Given the description of an element on the screen output the (x, y) to click on. 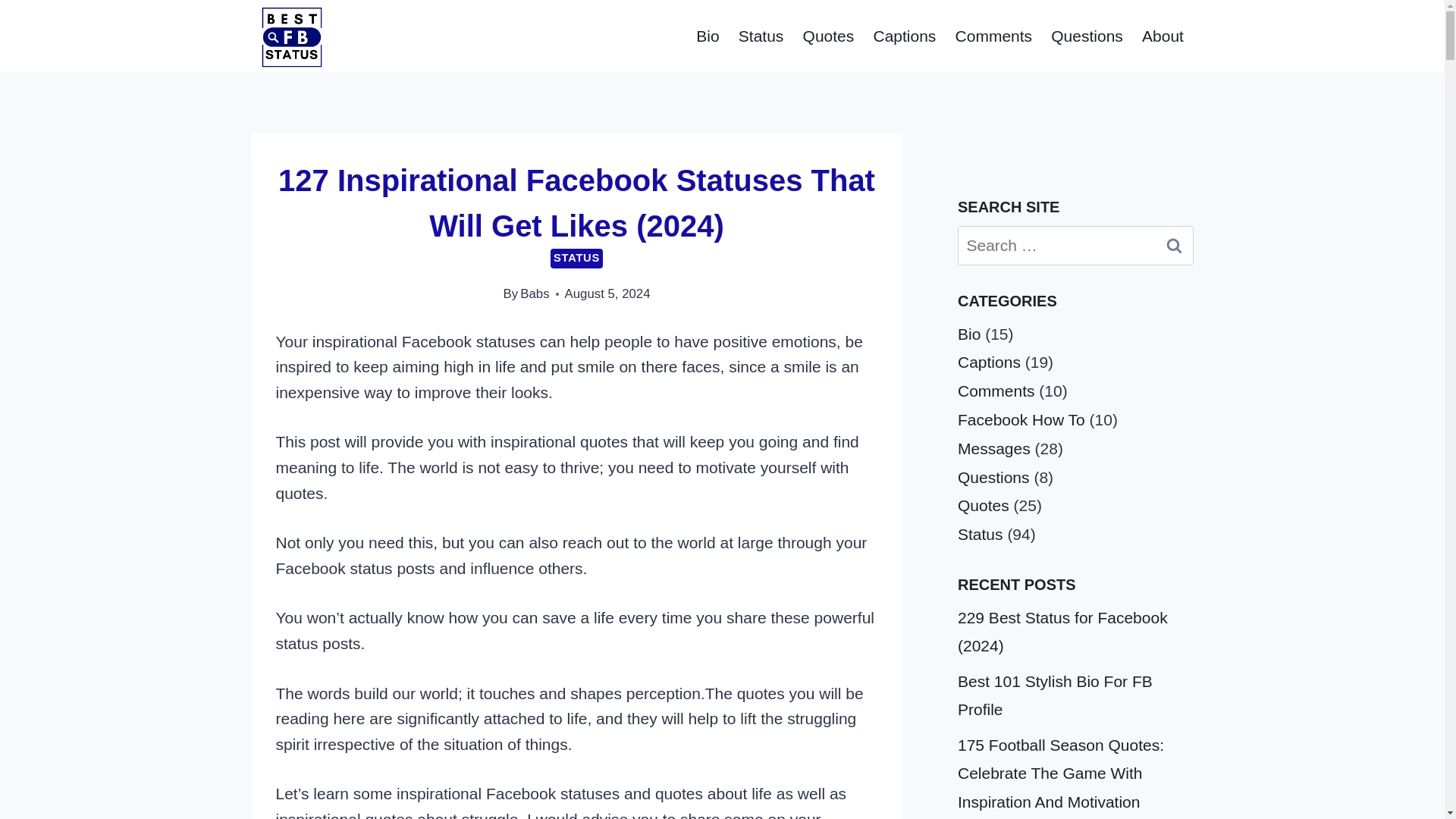
Comments (993, 36)
Captions (903, 36)
Questions (1087, 36)
Babs (533, 293)
Bio (708, 36)
Quotes (828, 36)
STATUS (576, 258)
Status (761, 36)
Search (1174, 245)
Search (1174, 245)
